Given the description of an element on the screen output the (x, y) to click on. 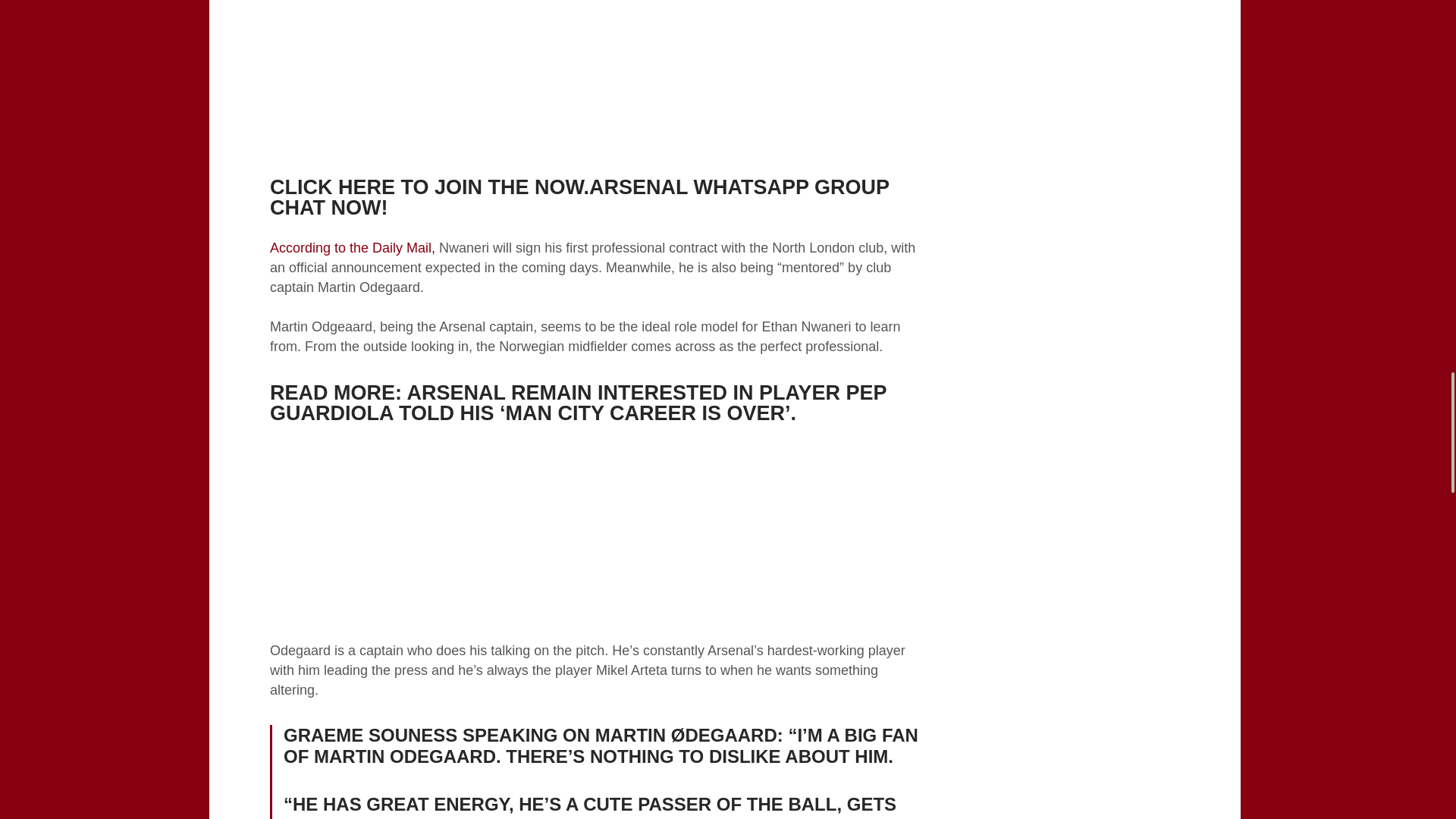
CLICK HERE TO JOIN THE NOW.ARSENAL WHATSAPP GROUP CHAT NOW! (579, 197)
According to the Daily Mail, (352, 247)
